Given the description of an element on the screen output the (x, y) to click on. 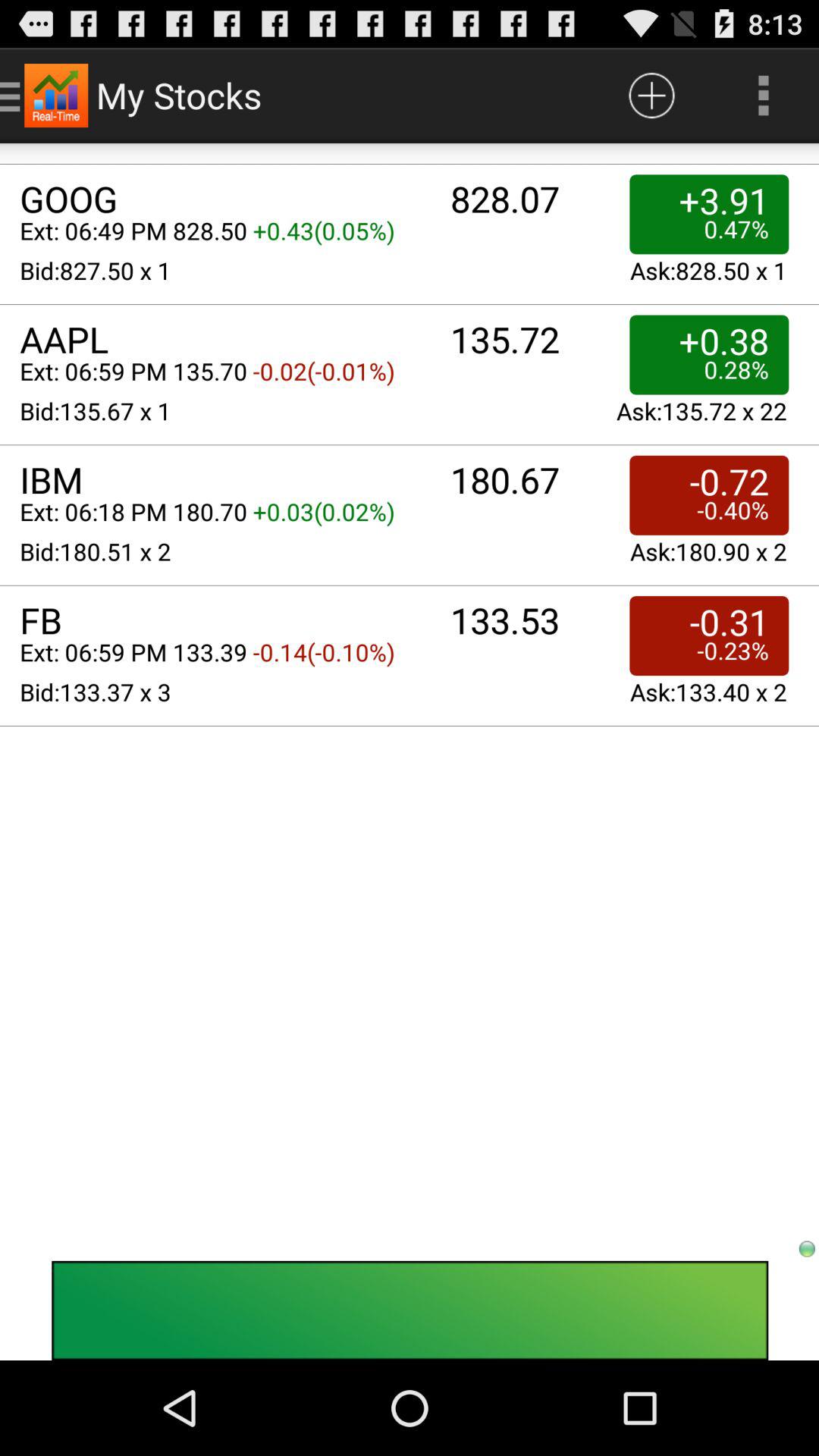
select item next to the my stocks item (651, 95)
